Given the description of an element on the screen output the (x, y) to click on. 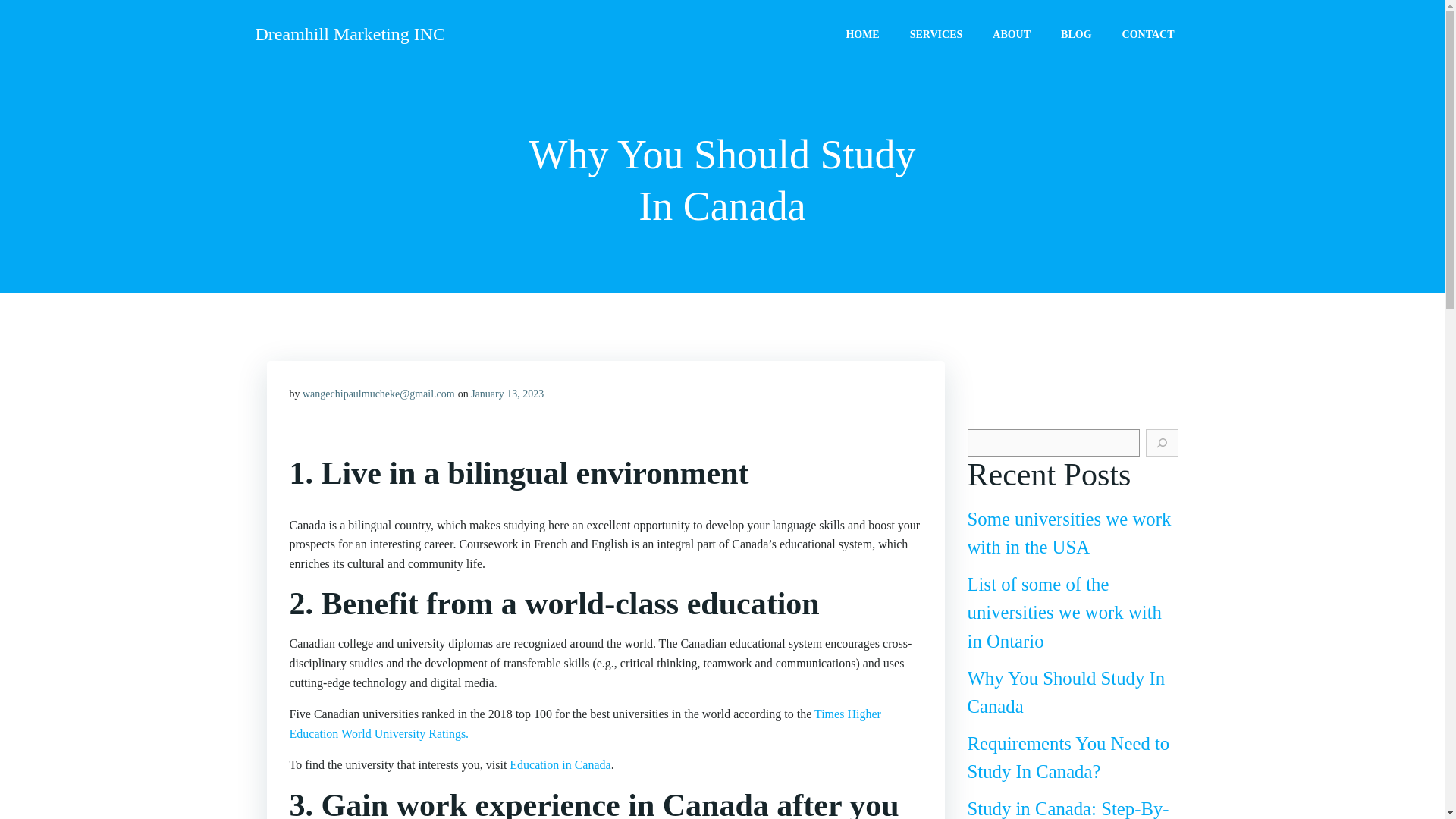
ABOUT (1011, 33)
List of some of the universities we work with in Ontario (1064, 612)
Some universities we work with in the USA (1070, 532)
Why You Should Study In Canada (1067, 692)
CONTACT (1148, 33)
Times Higher Education World University Ratings. (584, 723)
Education in Canada (559, 764)
BLOG (1075, 33)
January 13, 2023 (506, 393)
SERVICES (936, 33)
